Given the description of an element on the screen output the (x, y) to click on. 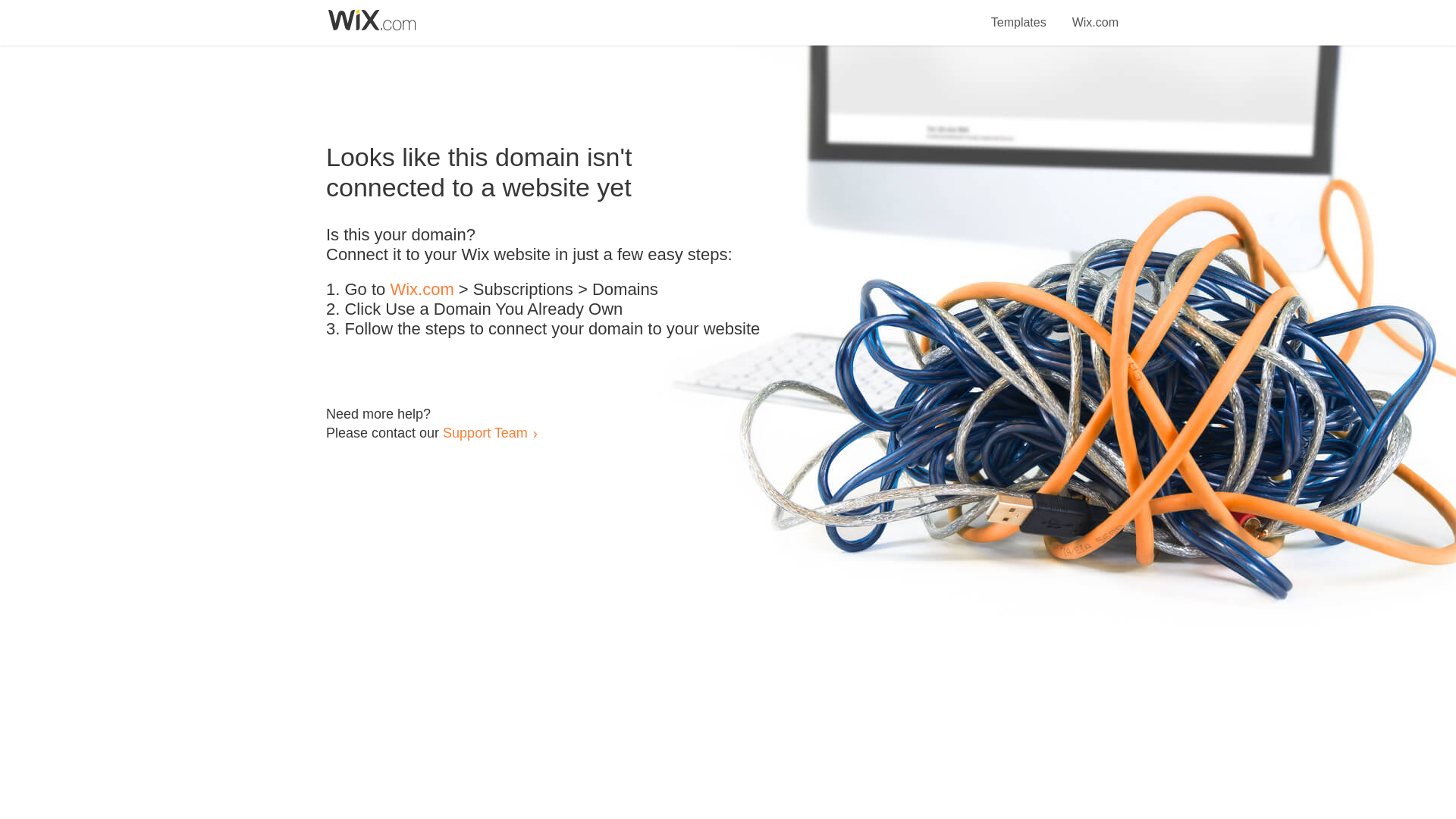
Support Team (484, 432)
Templates (1018, 14)
Wix.com (1095, 14)
Wix.com (421, 289)
